Given the description of an element on the screen output the (x, y) to click on. 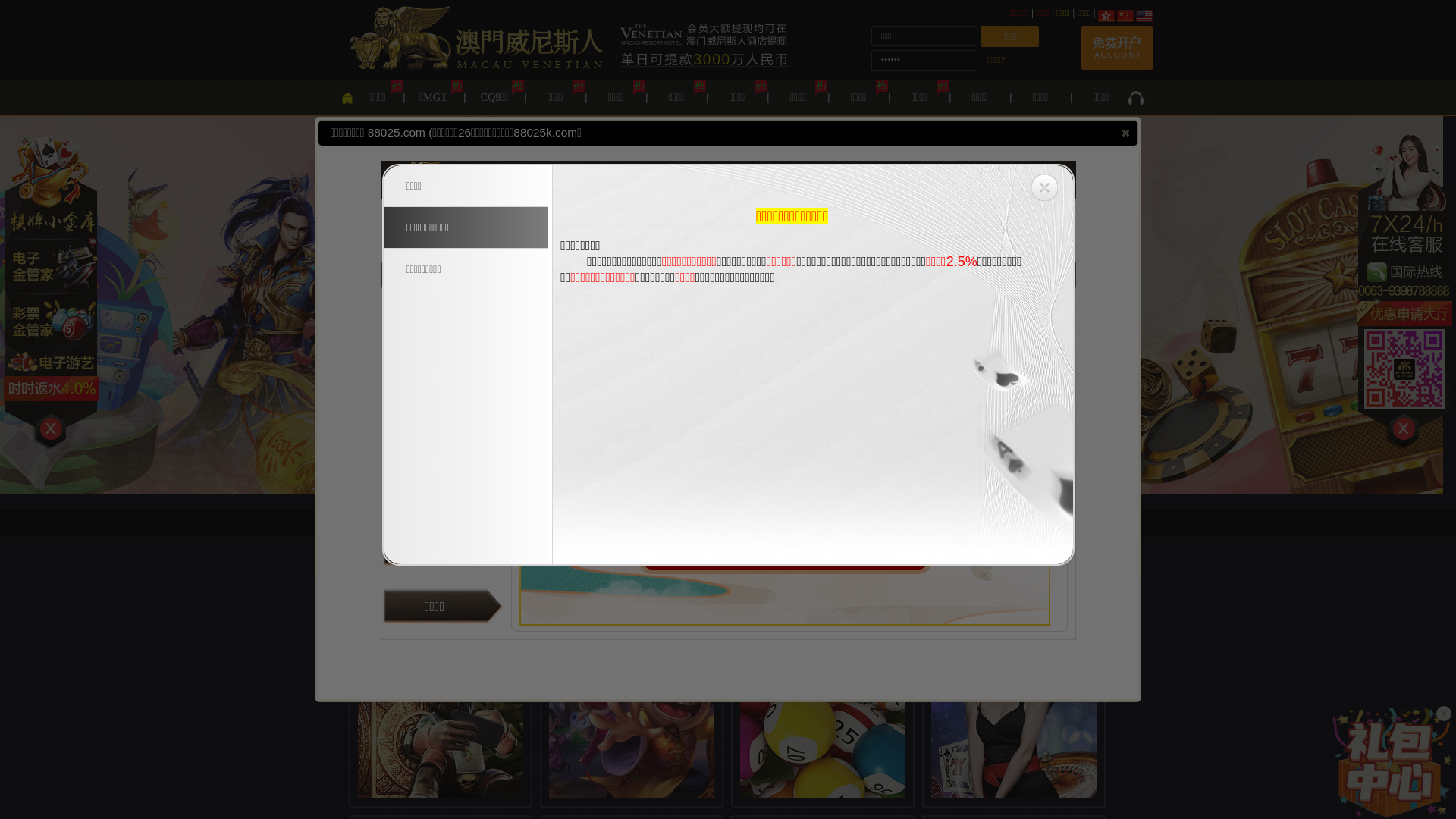
close Element type: text (1125, 132)
X Element type: text (1443, 713)
